Given the description of an element on the screen output the (x, y) to click on. 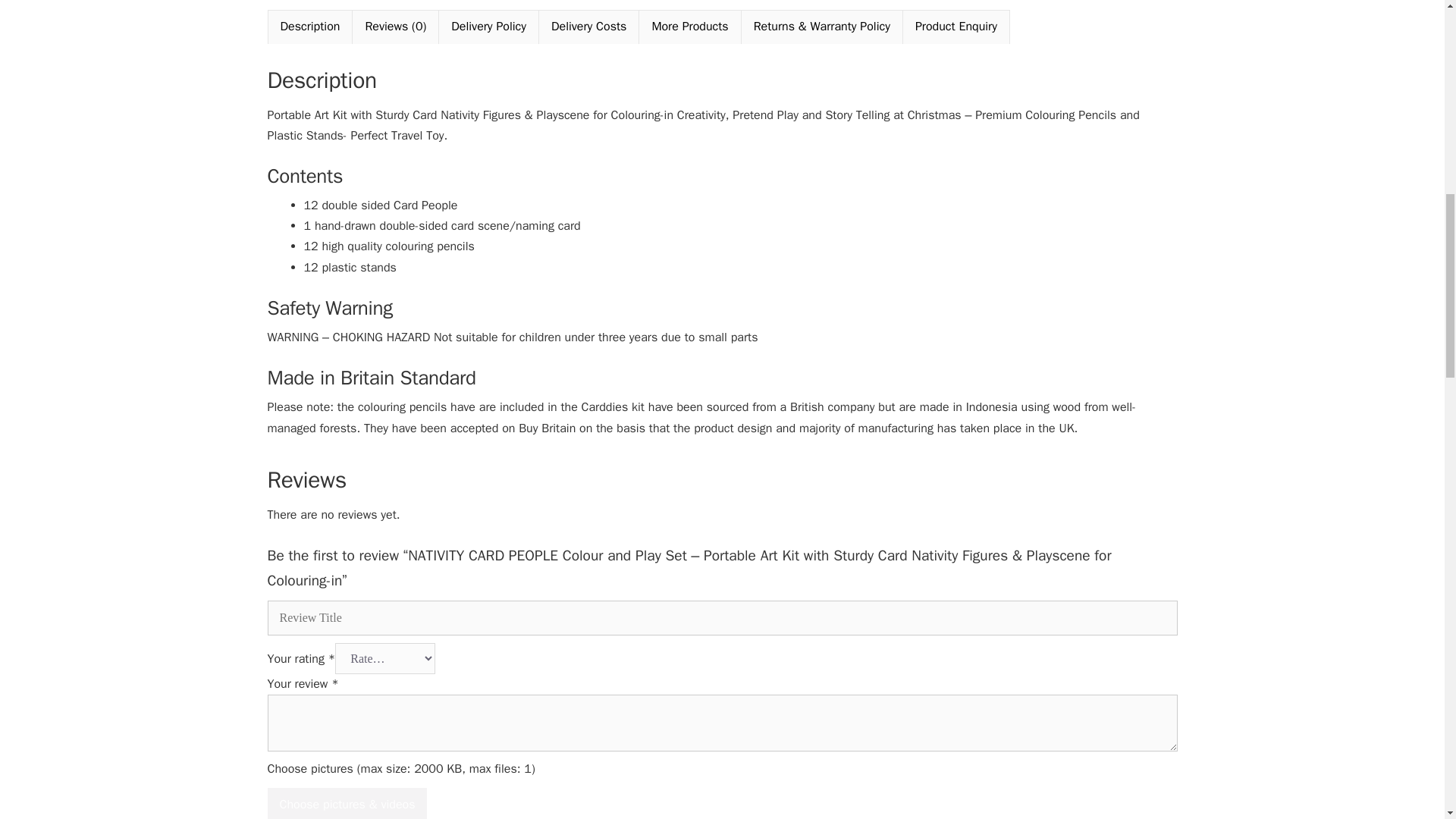
Scroll back to top (1406, 720)
